Given the description of an element on the screen output the (x, y) to click on. 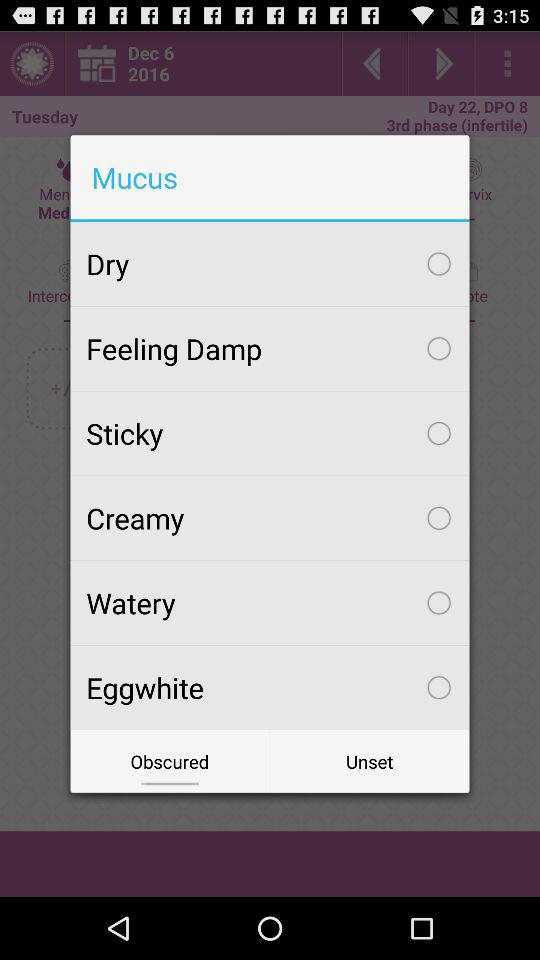
click icon next to unset icon (169, 761)
